Given the description of an element on the screen output the (x, y) to click on. 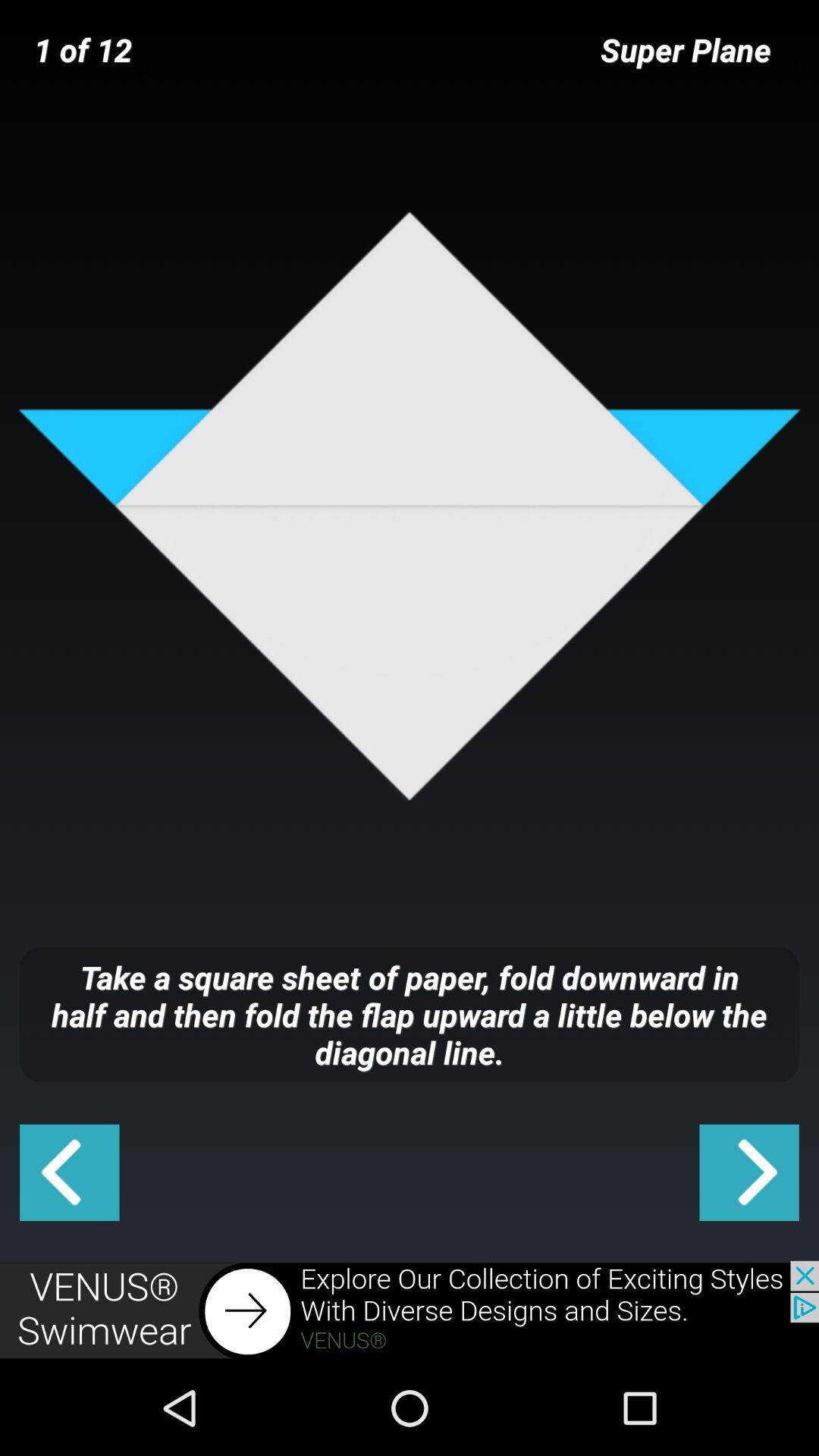
view advertisement (409, 1310)
